Given the description of an element on the screen output the (x, y) to click on. 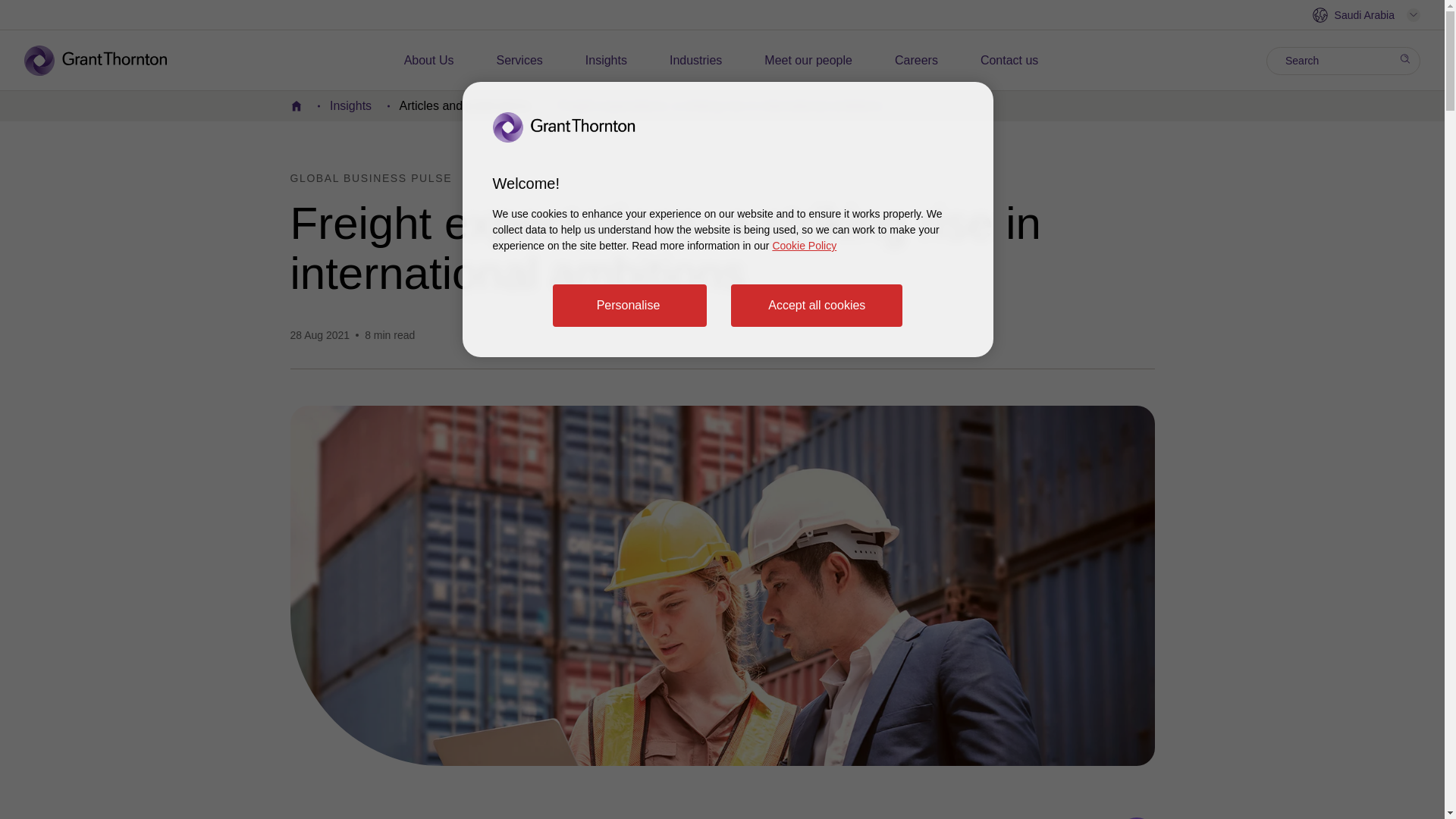
Meet our people (807, 60)
Explore the Grant Thornton network (1366, 14)
Industries (695, 60)
Saudi Arabia (1366, 14)
Careers (916, 60)
Contact us (1008, 60)
Insights (606, 60)
About Us (429, 60)
logo (105, 60)
Services (518, 60)
